Given the description of an element on the screen output the (x, y) to click on. 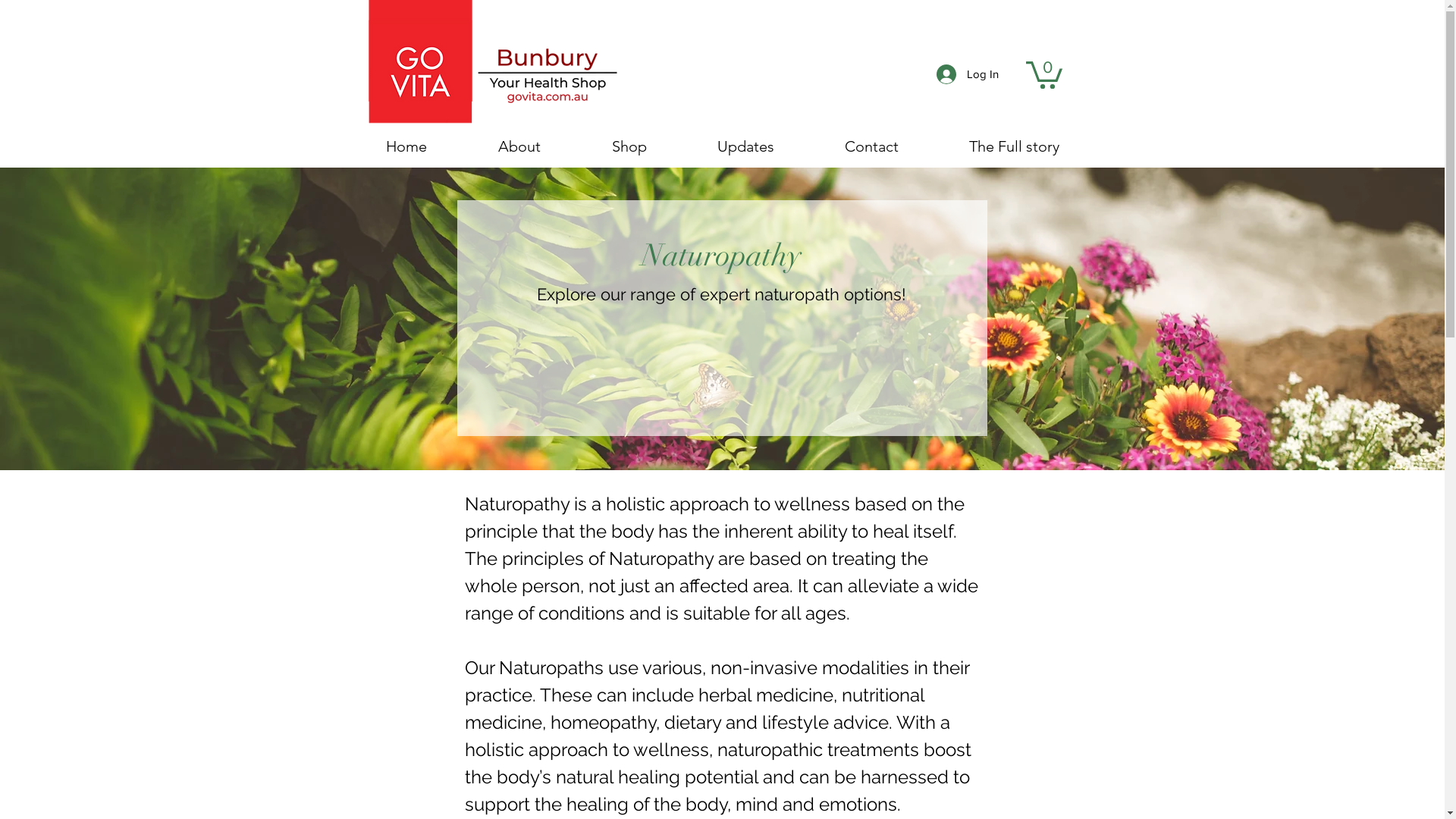
Log In Element type: text (966, 73)
0 Element type: text (1043, 73)
About Element type: text (519, 146)
The Full story Element type: text (1012, 146)
Updates Element type: text (744, 146)
Shop Element type: text (628, 146)
Contact Element type: text (870, 146)
Home Element type: text (405, 146)
